Given the description of an element on the screen output the (x, y) to click on. 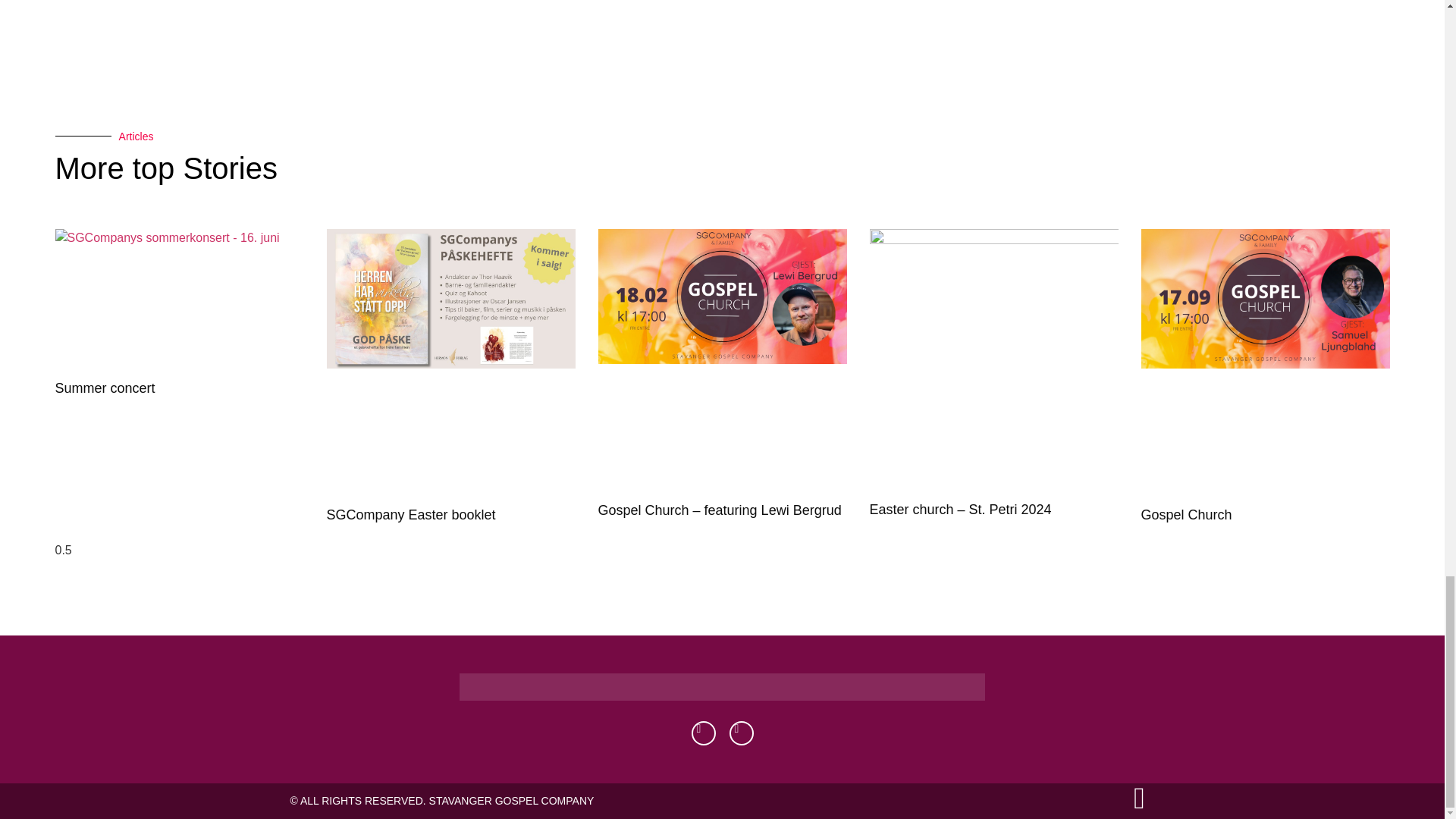
SGCompany Easter booklet (410, 514)
Summer concert (104, 387)
Gospel Church (1185, 514)
